Given the description of an element on the screen output the (x, y) to click on. 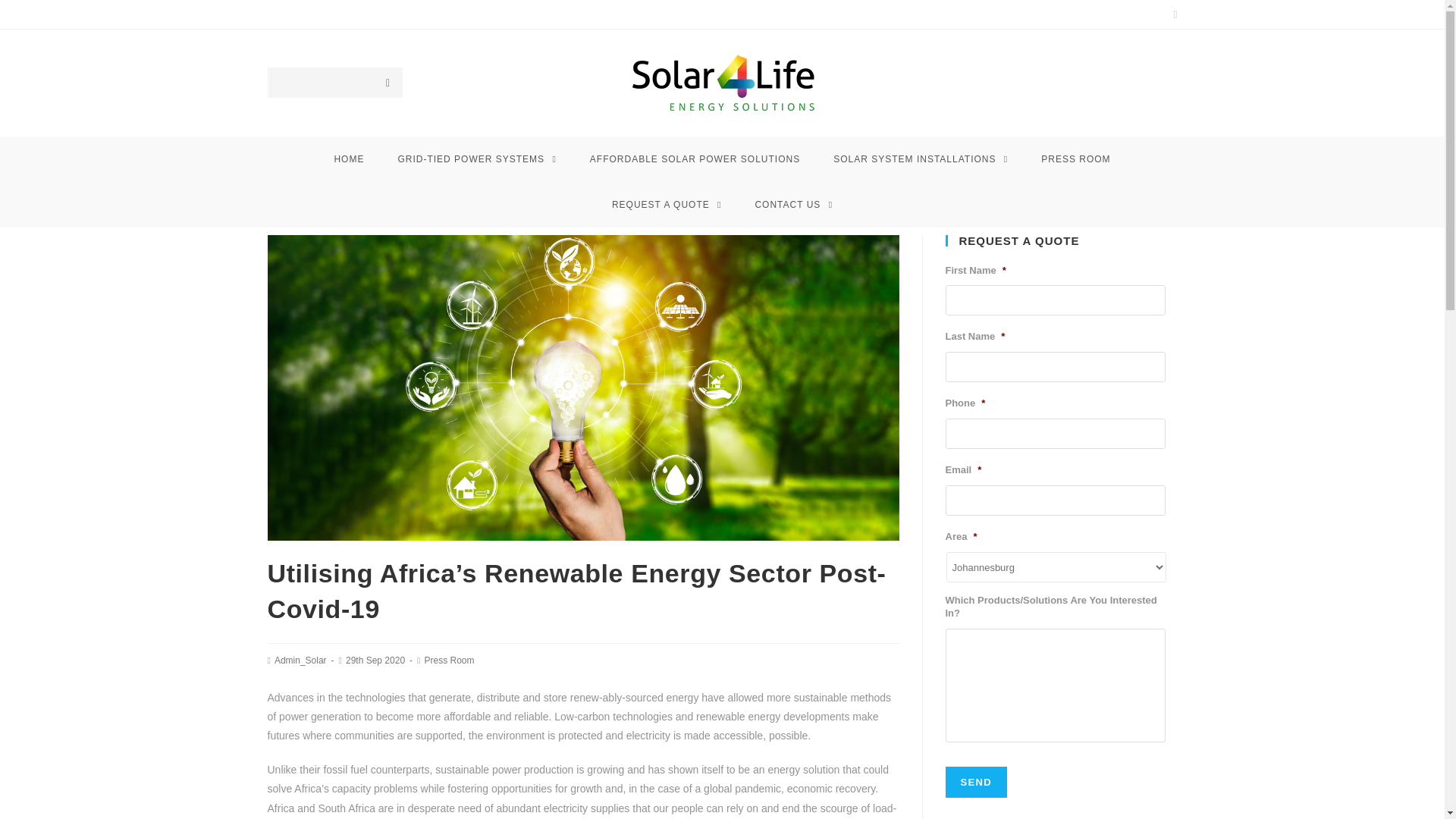
Chatbot (1383, 758)
SOLAR SYSTEM INSTALLATIONS (920, 158)
REQUEST A QUOTE (666, 204)
SEND (975, 781)
GRID-TIED POWER SYSTEMS (476, 158)
CONTACT US (793, 204)
HOME (348, 158)
AFFORDABLE SOLAR POWER SOLUTIONS (694, 158)
PRESS ROOM (1075, 158)
